Given the description of an element on the screen output the (x, y) to click on. 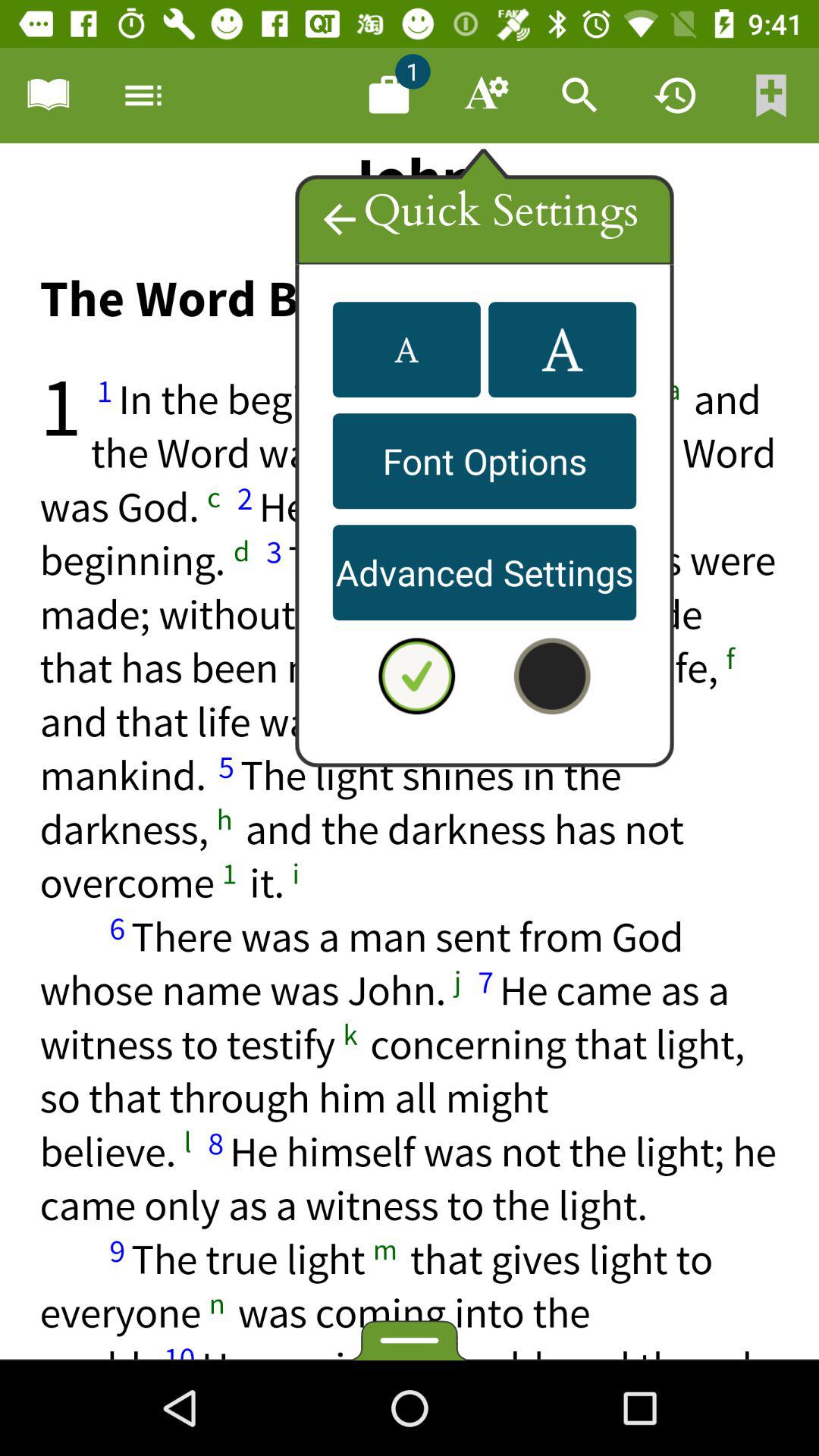
enlarge text (562, 349)
